Given the description of an element on the screen output the (x, y) to click on. 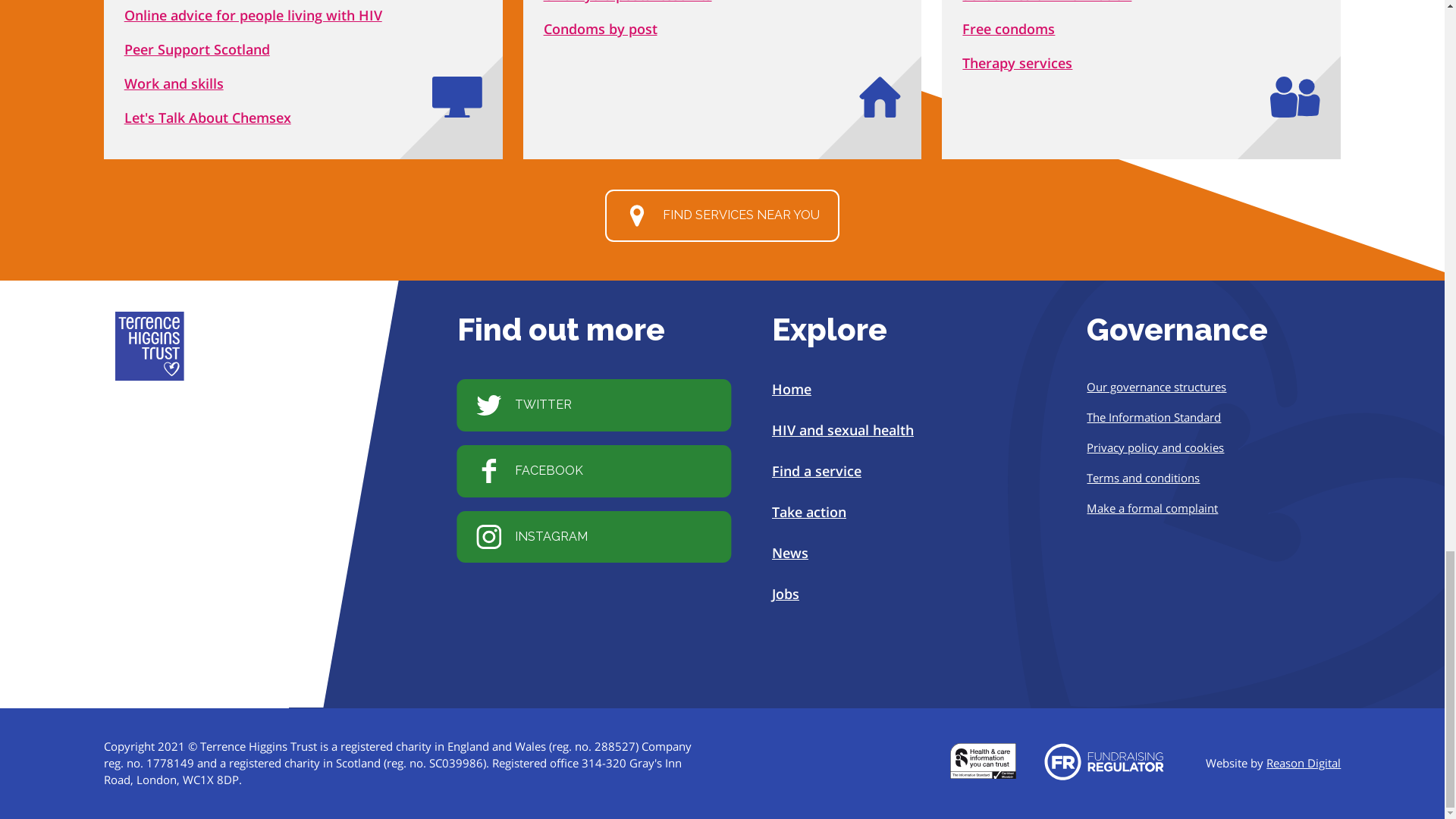
Online group for gay and bisexual men living with HIV (207, 117)
FIND SERVICES NEAR YOU (722, 215)
HIV and sexual health (842, 429)
Free condoms (1008, 28)
Find services near you (722, 215)
Condoms by post (600, 28)
TWITTER (593, 405)
Online advice for people living with HIV (252, 14)
Counselling, groups and complementary therapies (1016, 63)
FACEBOOK (593, 471)
Let's Talk About Chemsex (207, 117)
Sexual health information (1046, 2)
INSTAGRAM (593, 536)
Peer Support Scotland (196, 49)
Work and skills (173, 83)
